Given the description of an element on the screen output the (x, y) to click on. 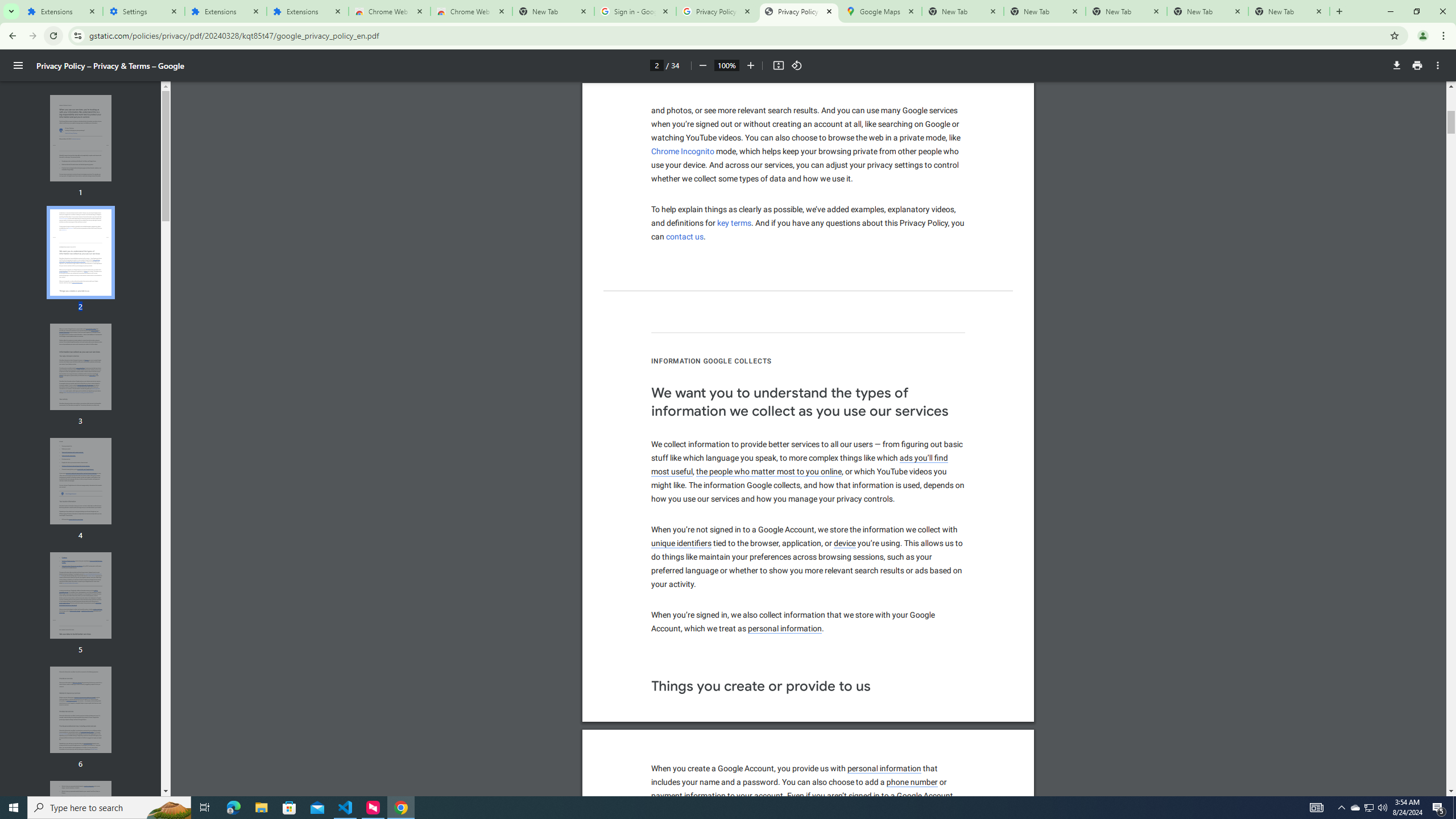
Settings (143, 11)
Thumbnail for page 6 (80, 709)
personal information (884, 768)
Zoom in (750, 65)
payment information (688, 795)
Extensions (225, 11)
Page number (656, 64)
key terms (734, 222)
Thumbnail for page 1 (80, 138)
Print (1416, 65)
